Given the description of an element on the screen output the (x, y) to click on. 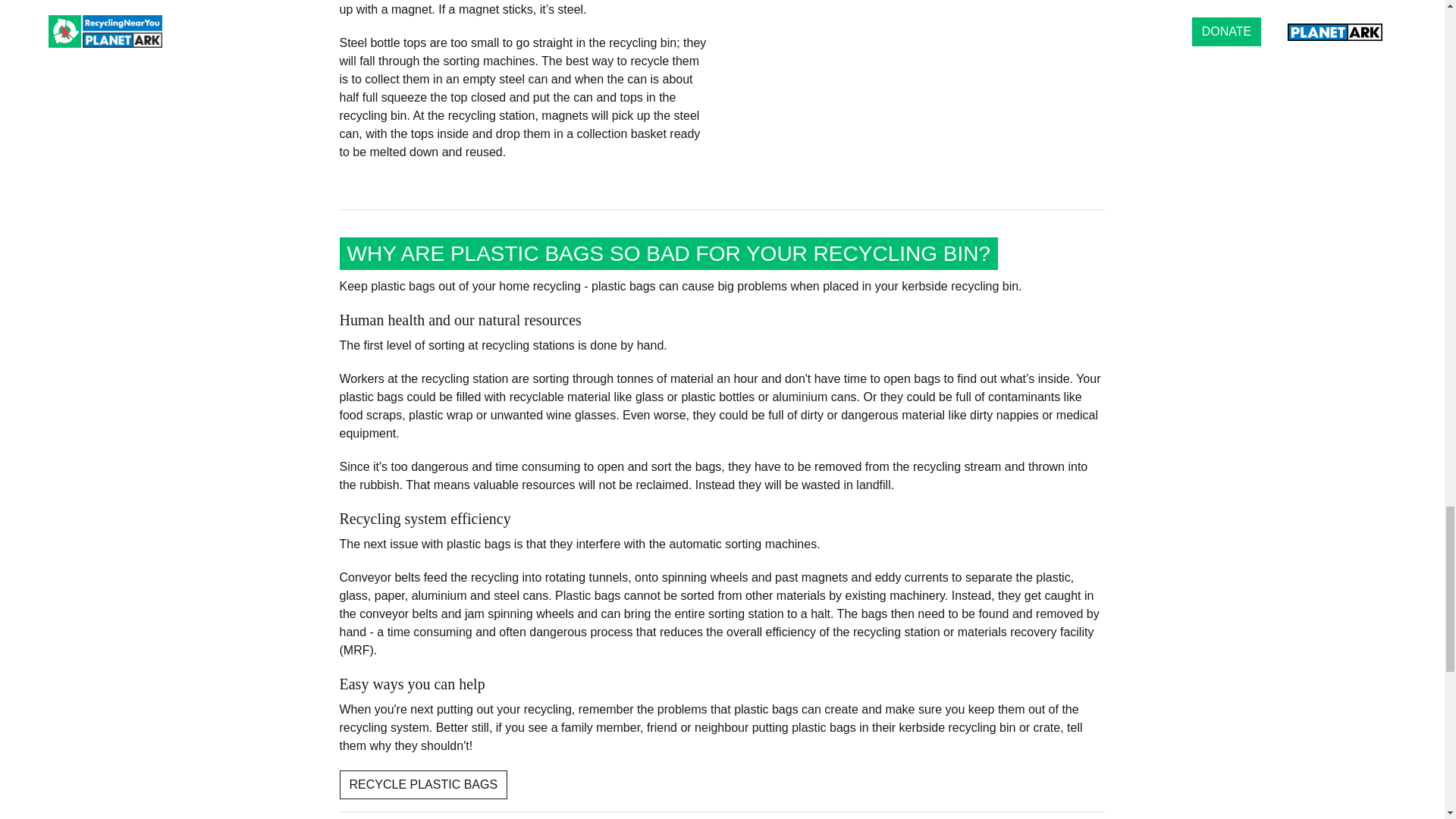
RECYCLE PLASTIC BAGS (423, 784)
